Given the description of an element on the screen output the (x, y) to click on. 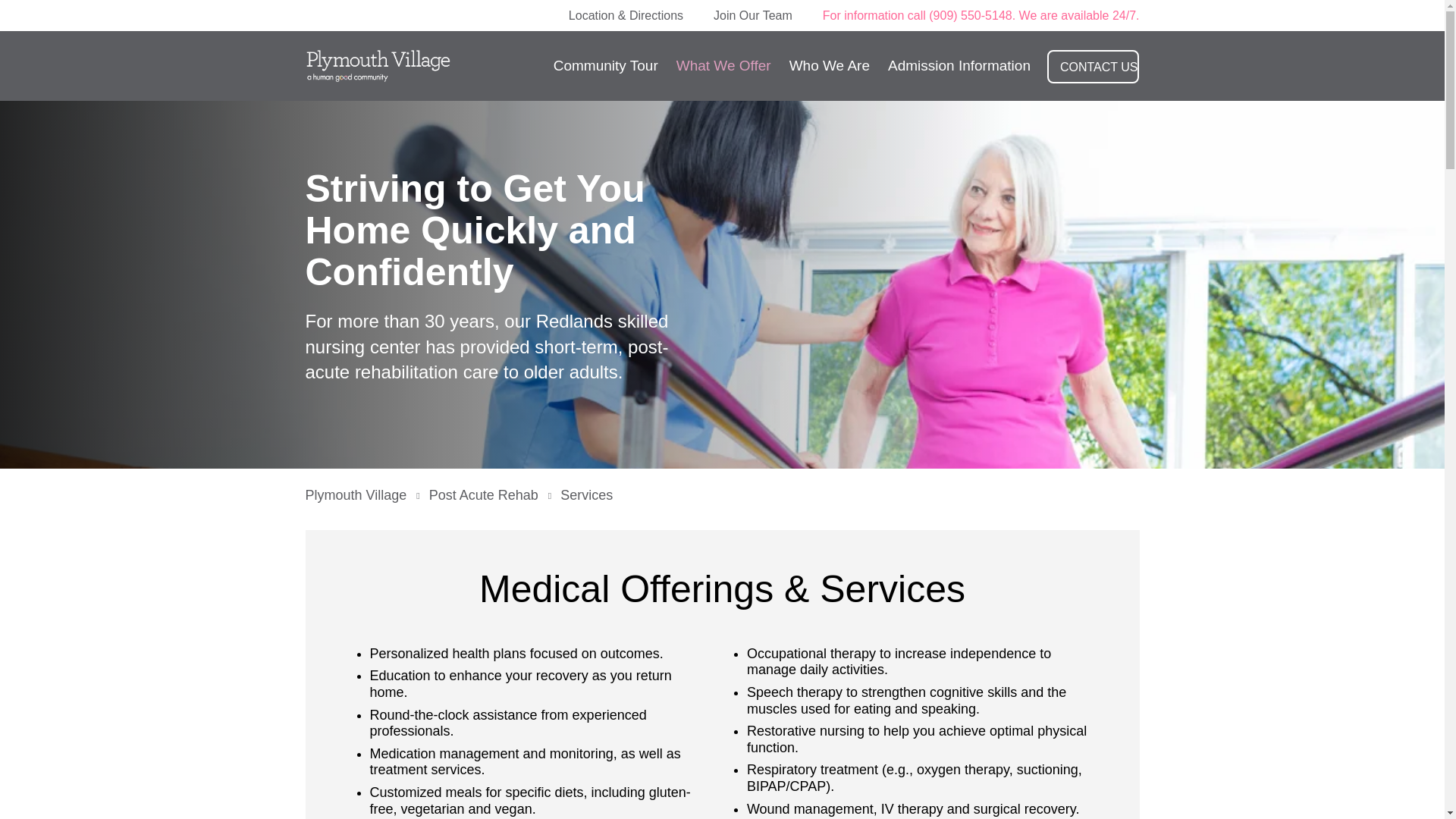
Plymouth Village (361, 494)
Community Tour (605, 65)
Services (586, 494)
Post Acute Rehab (490, 494)
Who We Are (829, 65)
Join Our Team (753, 15)
PlymouthVillage (400, 65)
Admission Information (959, 65)
CONTACT US (1093, 66)
What We Offer (723, 65)
